Given the description of an element on the screen output the (x, y) to click on. 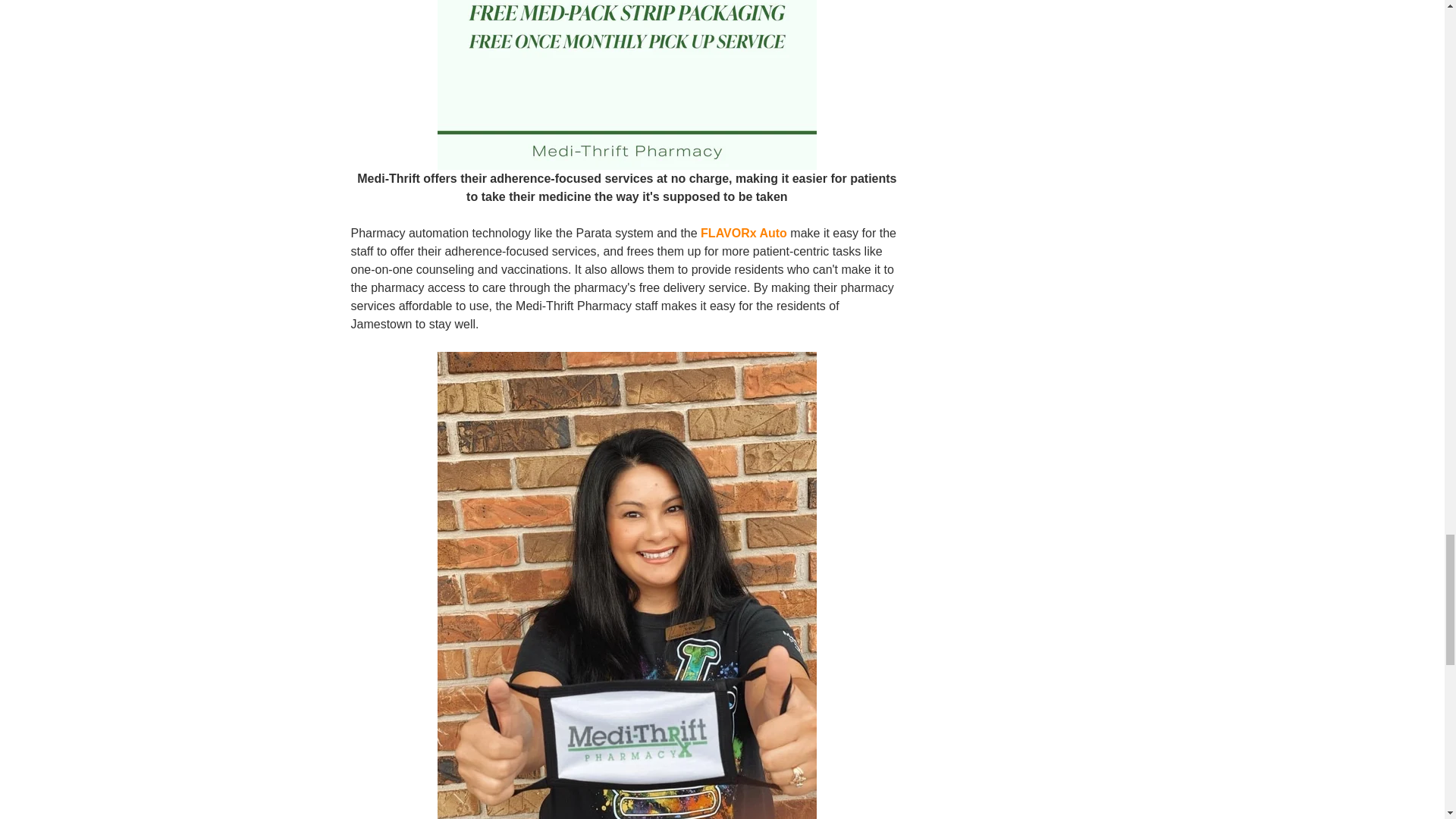
FLAVORx Auto (743, 232)
